Given the description of an element on the screen output the (x, y) to click on. 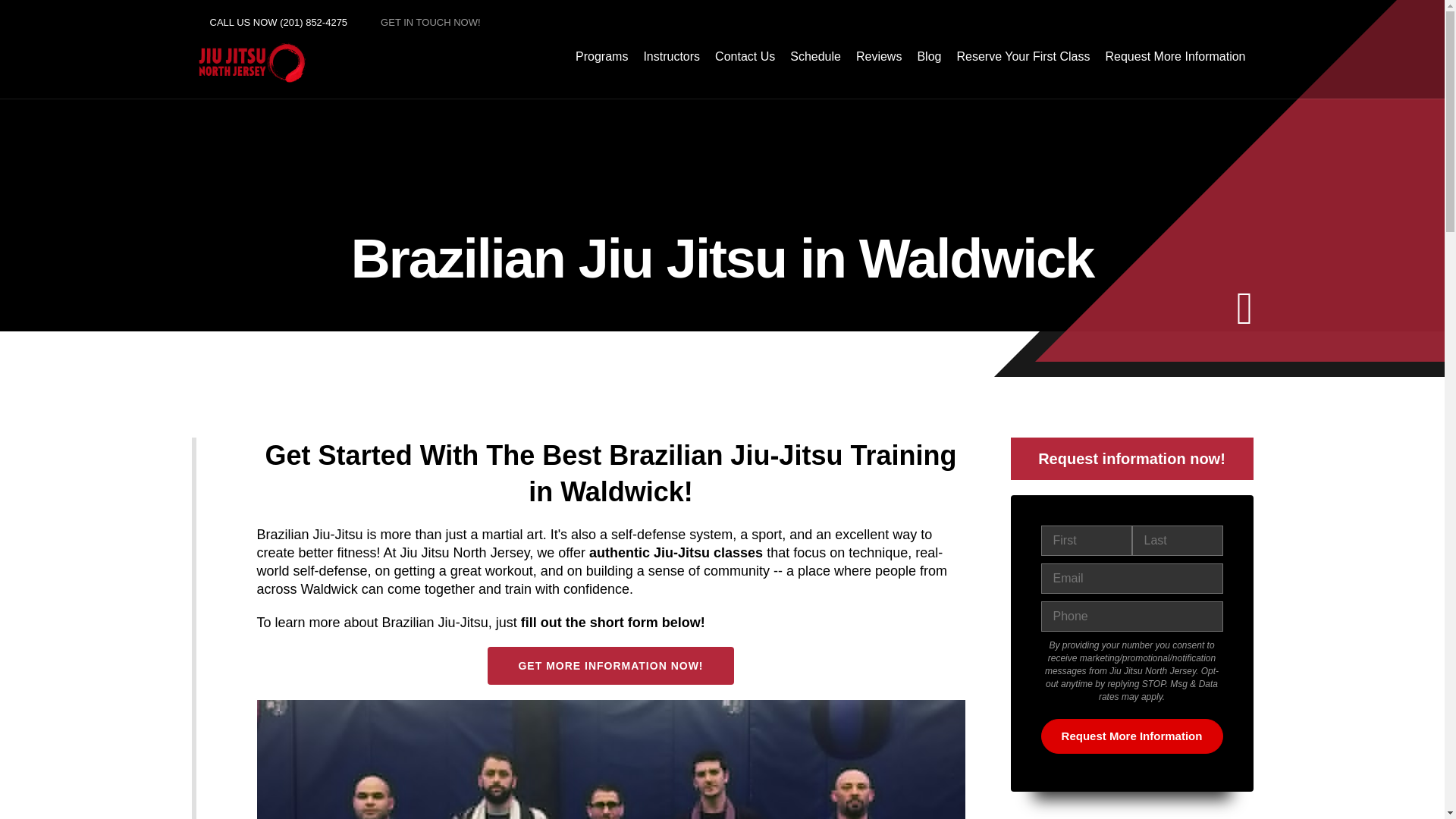
Request More Information (1175, 56)
Reserve Your First Class (1023, 56)
Reviews (878, 56)
Contact Us (744, 56)
Programs (600, 56)
Schedule (815, 56)
Request More Information (1132, 736)
GOOGLEPLUS (1209, 22)
Programs (600, 56)
Contact Us (744, 56)
